Given the description of an element on the screen output the (x, y) to click on. 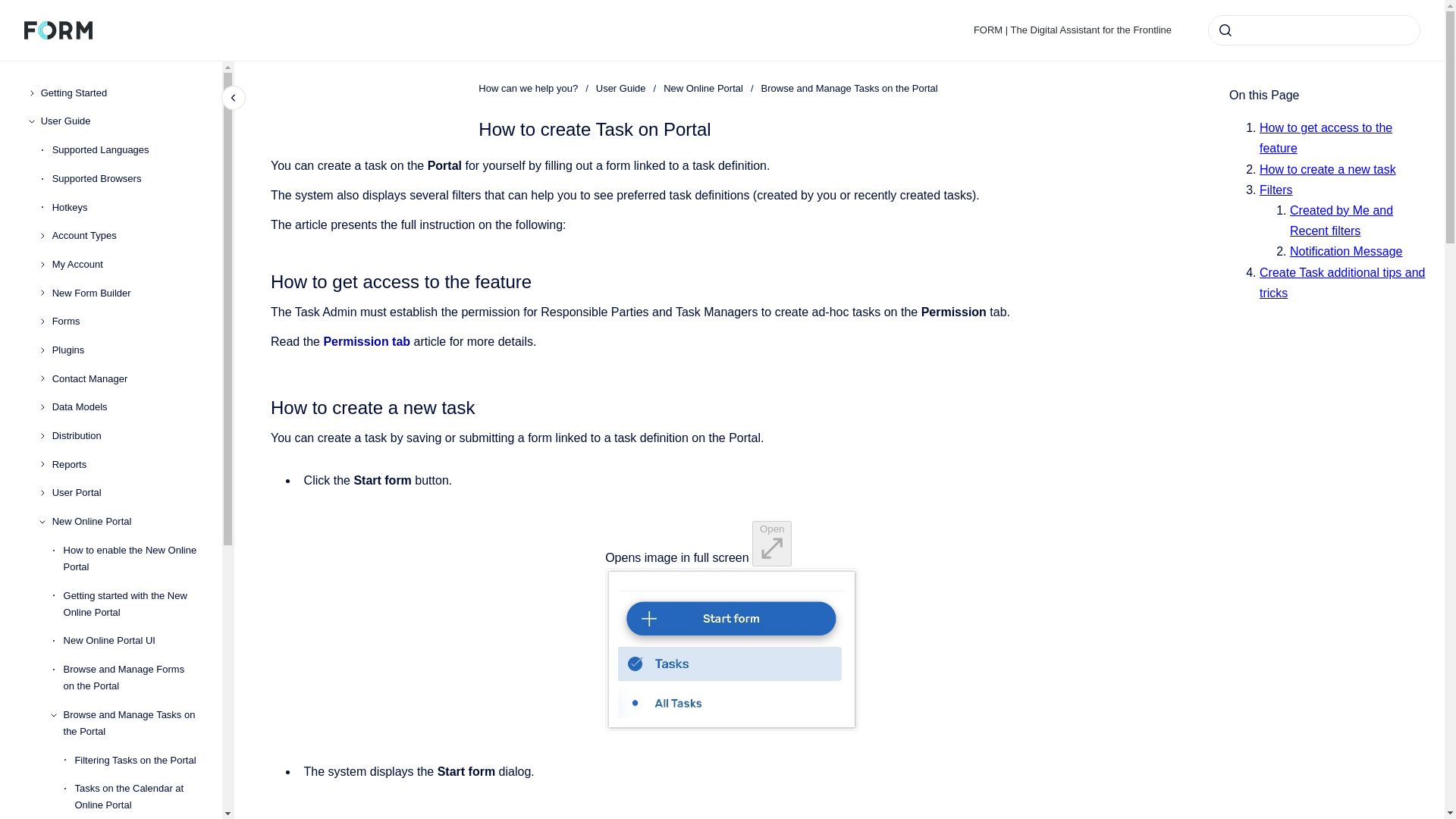
Reports (127, 464)
Copy to clipboard (263, 279)
Account Types (127, 235)
User Guide (121, 121)
Getting Started (121, 93)
Plugins (127, 349)
Browse and Manage Tasks on the Portal (133, 723)
User Portal (127, 492)
Browse and Manage Forms on the Portal (133, 678)
How to enable the New Online Portal (133, 558)
My Account (127, 264)
New Form Builder (127, 293)
Contact Manager (127, 379)
Go to homepage (58, 30)
Supported Browsers (127, 178)
